Given the description of an element on the screen output the (x, y) to click on. 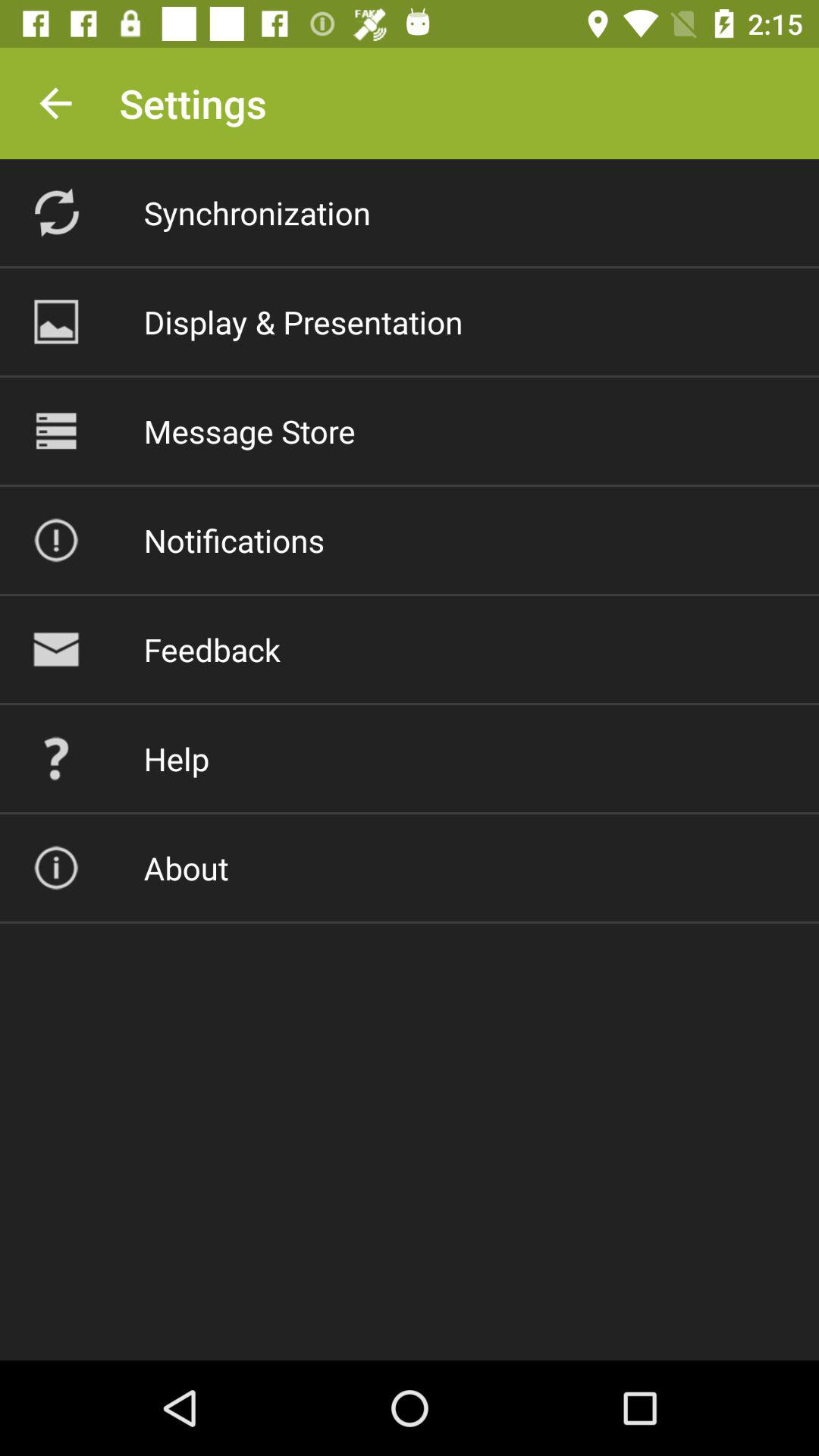
open the item above message store item (302, 321)
